Given the description of an element on the screen output the (x, y) to click on. 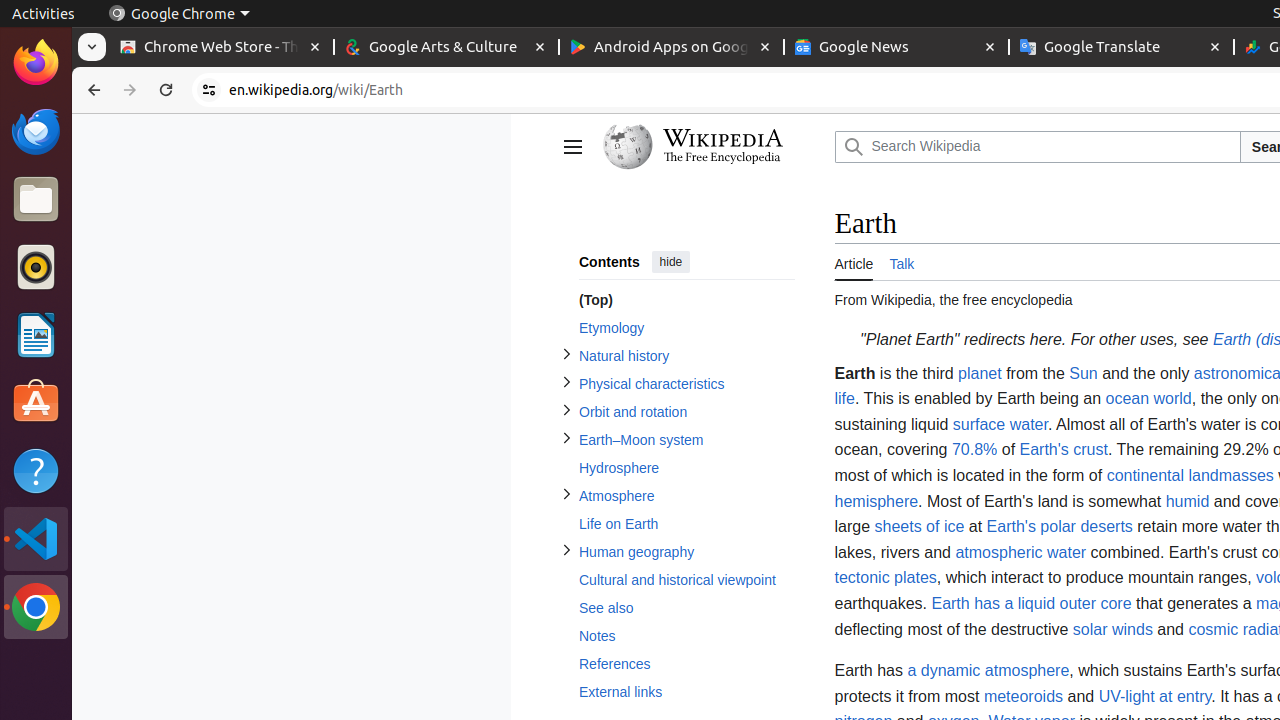
solar winds Element type: link (1112, 629)
continental Element type: link (1145, 475)
Toggle Earth–Moon system subsection Element type: push-button (566, 438)
atmospheric water Element type: link (1021, 552)
(Top) Element type: link (686, 300)
